Given the description of an element on the screen output the (x, y) to click on. 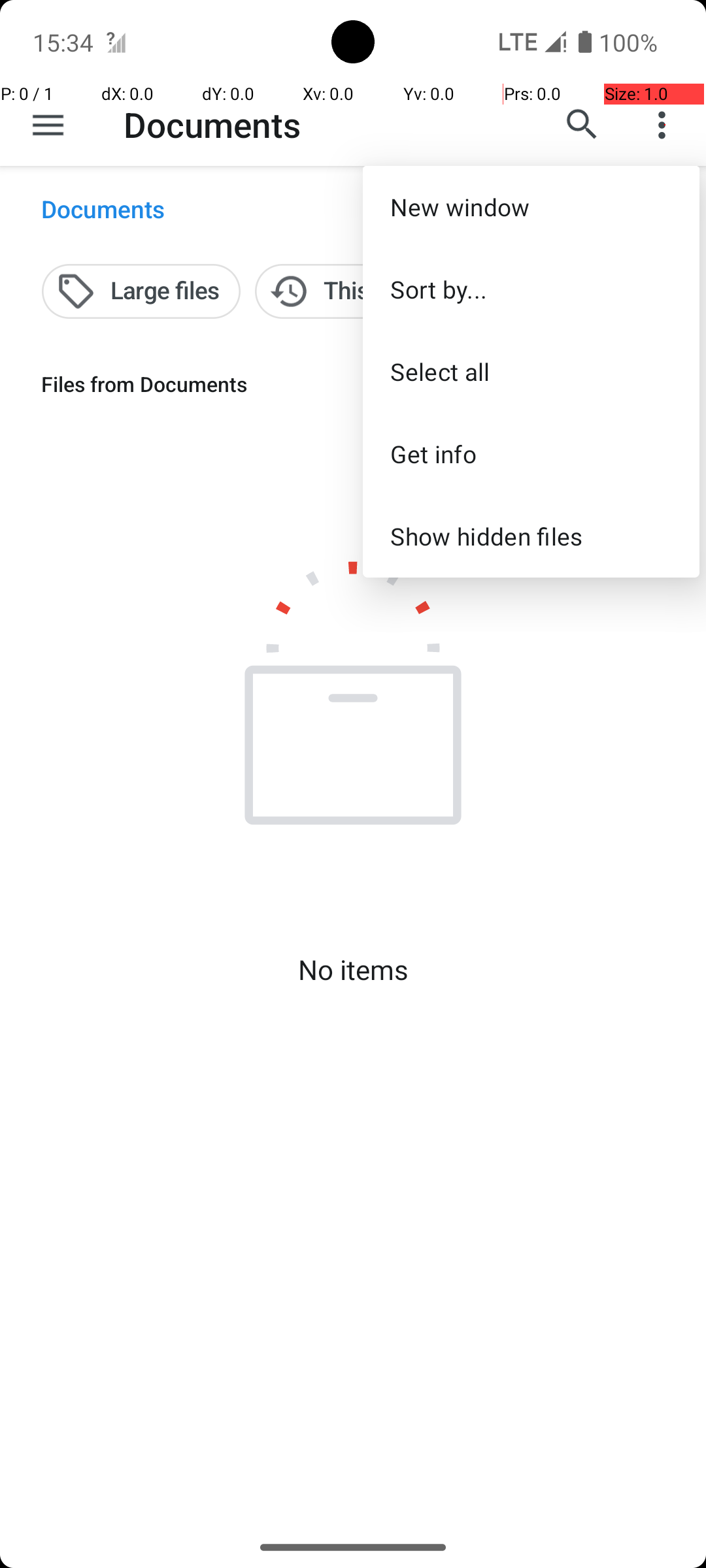
New window Element type: android.widget.TextView (531, 206)
Select all Element type: android.widget.TextView (531, 371)
Get info Element type: android.widget.TextView (531, 453)
